Given the description of an element on the screen output the (x, y) to click on. 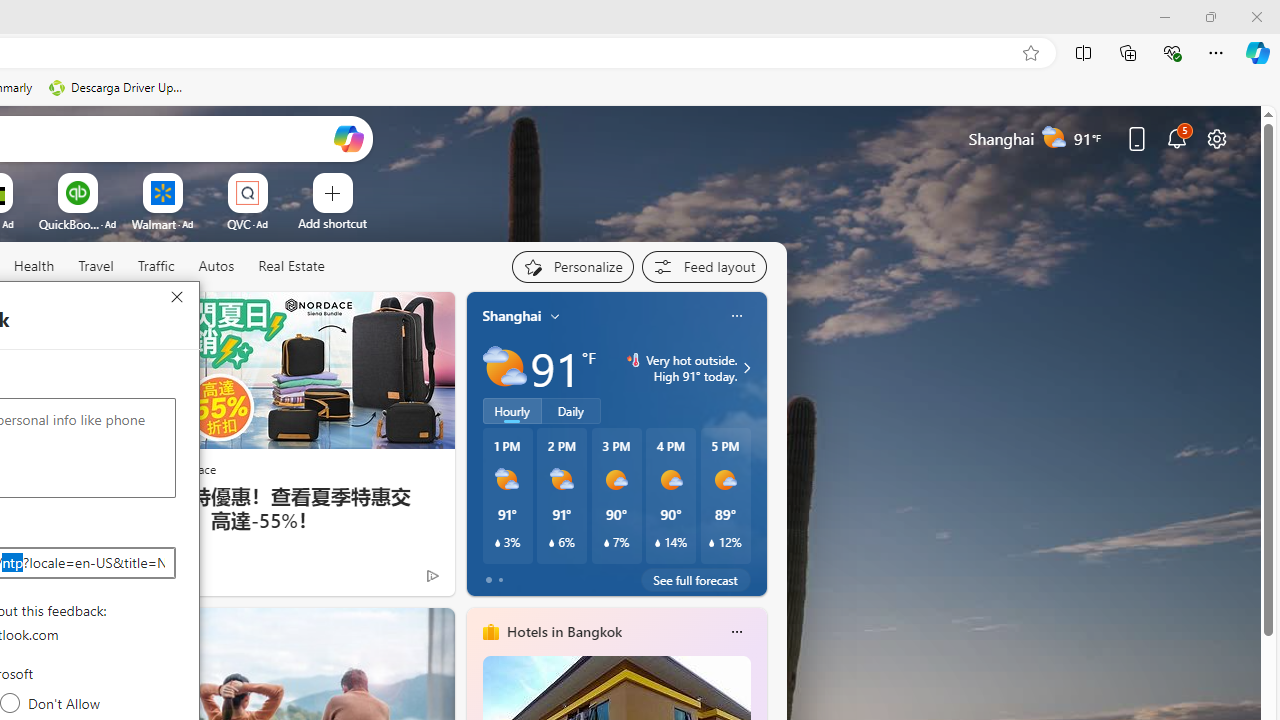
Hourly (511, 411)
Real Estate (290, 267)
Travel (95, 265)
Class: icon-img (736, 632)
Health (33, 267)
Travel (95, 267)
